Given the description of an element on the screen output the (x, y) to click on. 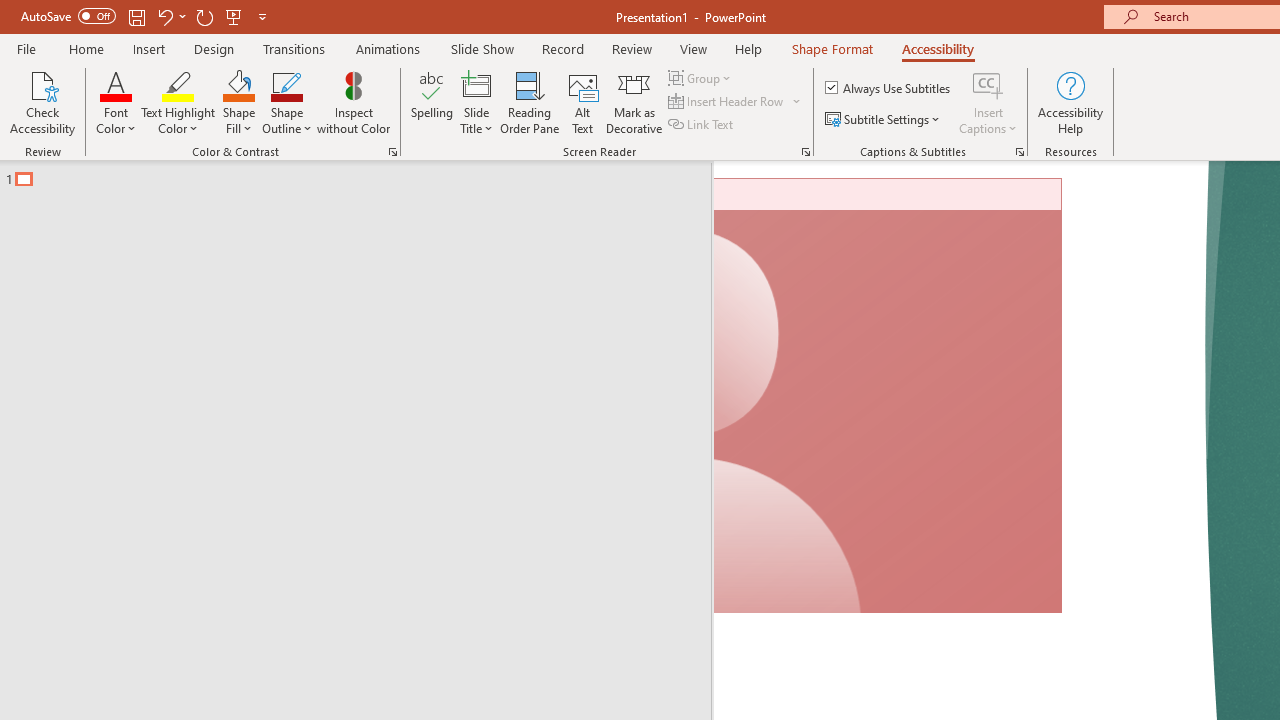
Captions & Subtitles (1019, 151)
Inspect without Color (353, 102)
Screen Reader (805, 151)
